Given the description of an element on the screen output the (x, y) to click on. 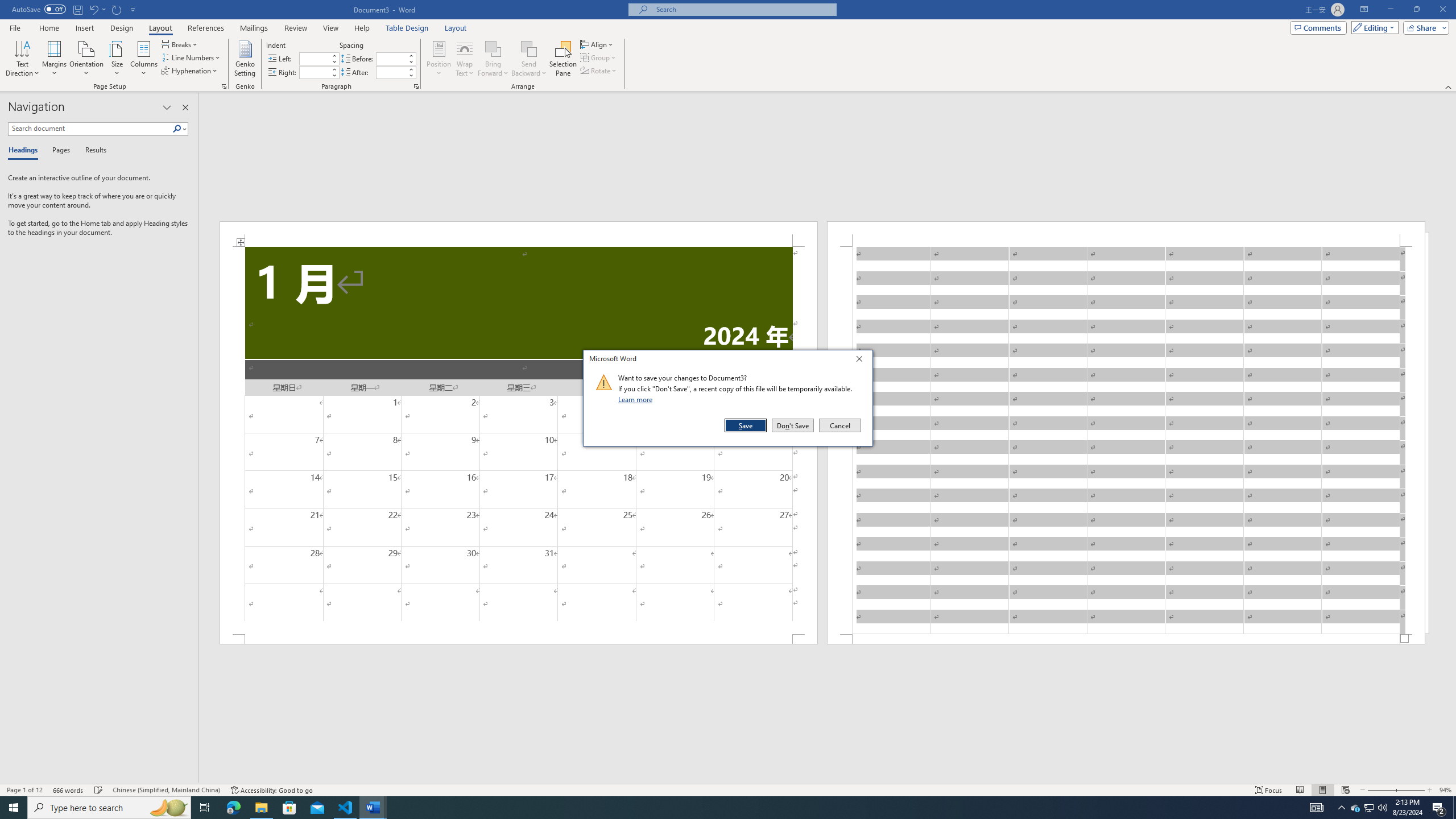
Position (438, 58)
Notification Chevron (1341, 807)
Spacing Before (391, 58)
Q2790: 100% (1382, 807)
Selection Pane... (563, 58)
Bring Forward (492, 48)
Bring Forward (492, 58)
Cancel (839, 425)
Send Backward (1368, 807)
Learn more (528, 58)
